Given the description of an element on the screen output the (x, y) to click on. 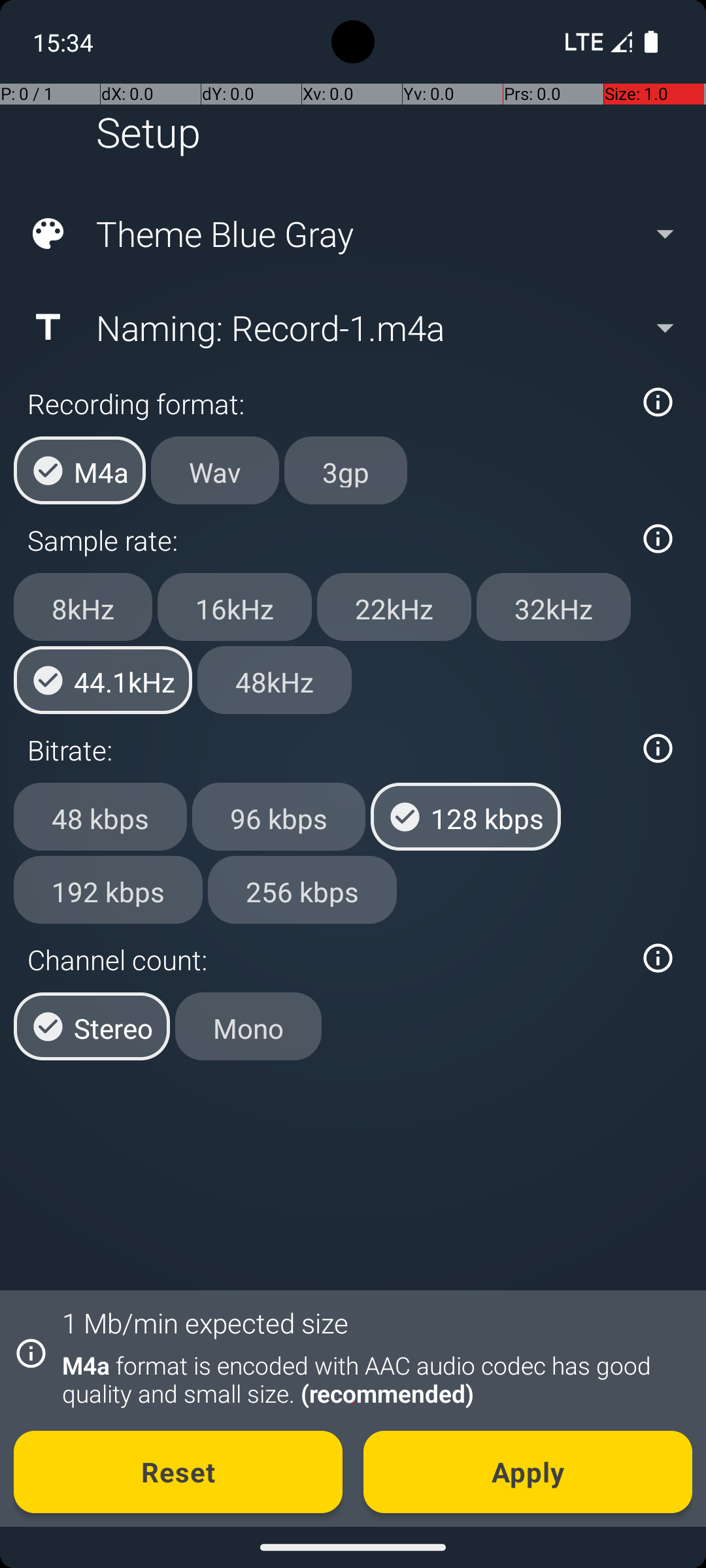
Phone one bar. Element type: android.widget.FrameLayout (595, 41)
